Given the description of an element on the screen output the (x, y) to click on. 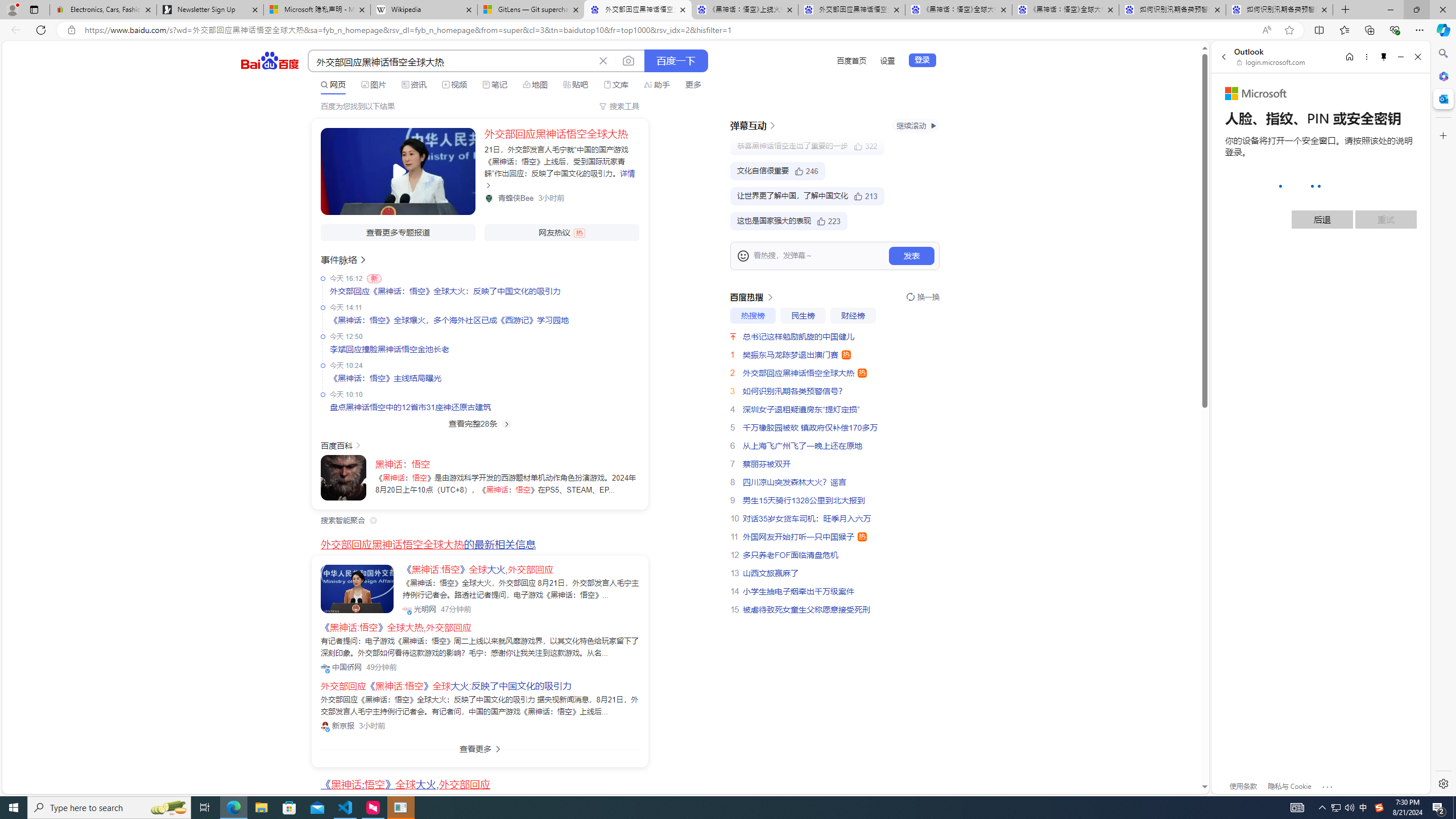
Microsoft (1255, 93)
Wikipedia (423, 9)
